Given the description of an element on the screen output the (x, y) to click on. 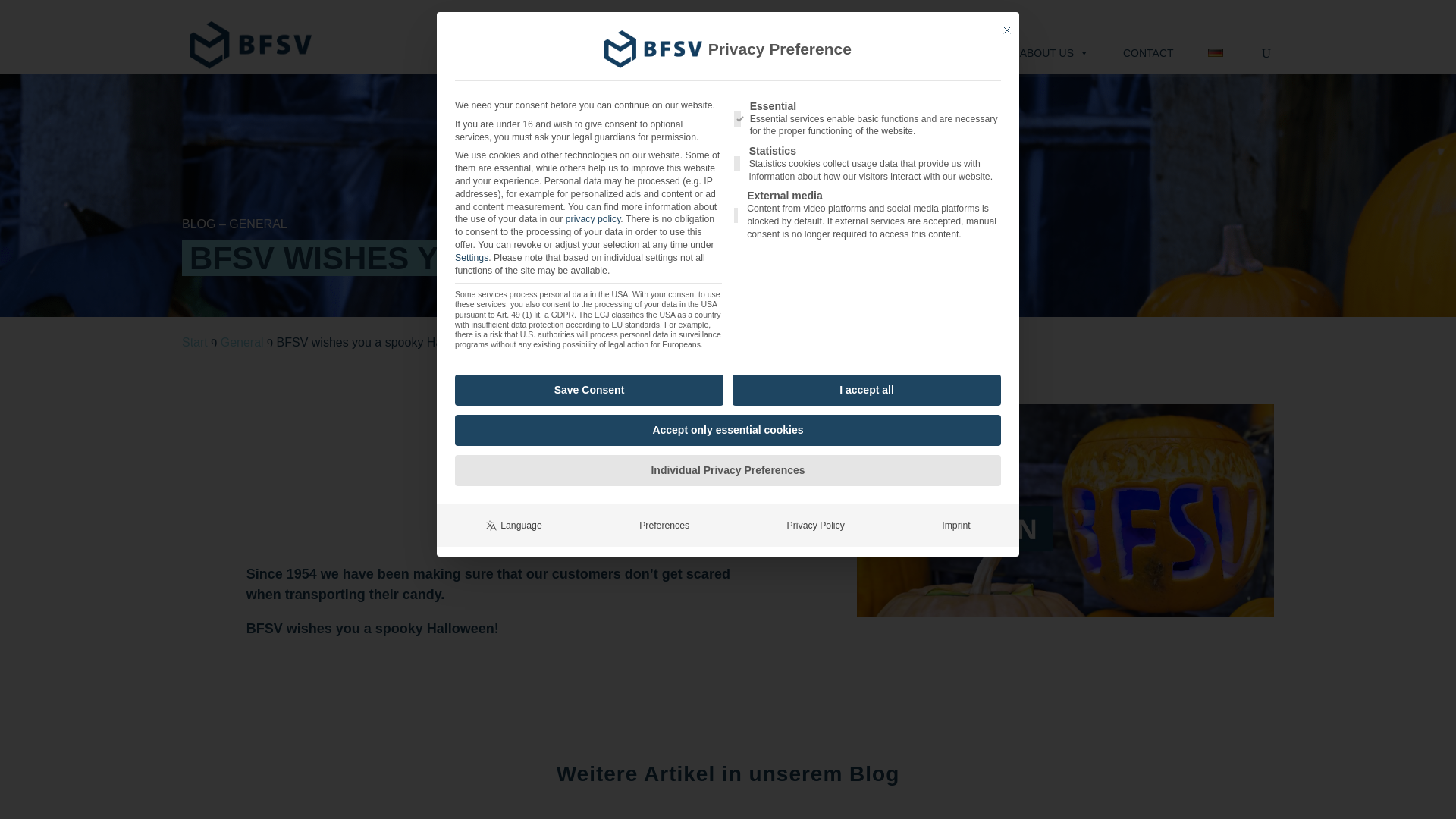
LABORATORY (668, 51)
BFSV - Happy Halloween 2023 (1065, 510)
RESEARCH (783, 51)
BFSV (250, 44)
